Given the description of an element on the screen output the (x, y) to click on. 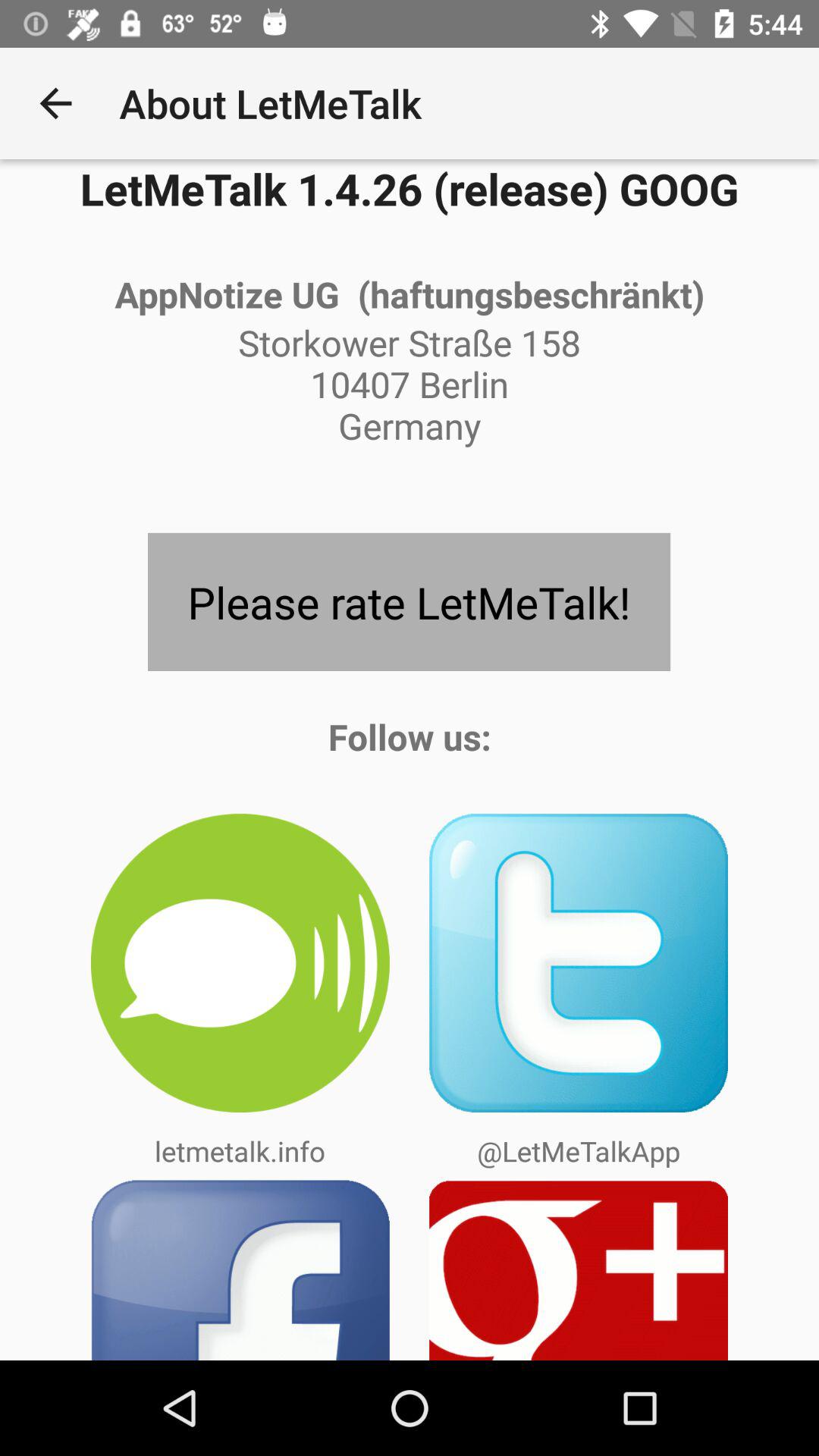
turn on icon on the right (578, 962)
